Given the description of an element on the screen output the (x, y) to click on. 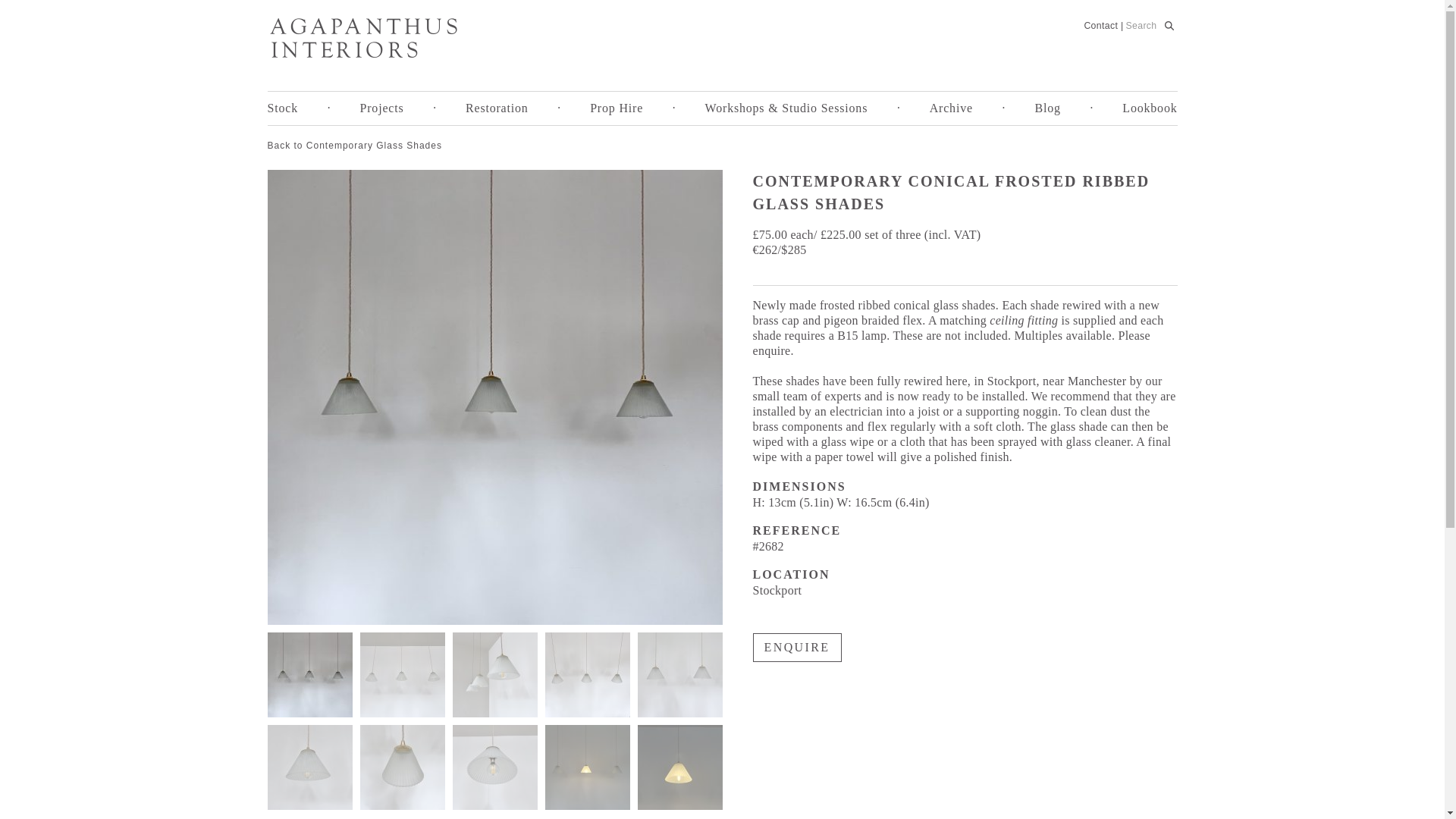
Lookbook (1149, 107)
Blog (1046, 107)
Contemporary Glass Shades (353, 145)
Stock (281, 107)
ceiling fitting (1025, 319)
ENQUIRE (796, 647)
Projects (381, 107)
Prop Hire (616, 107)
Stockport based antique restoration shop (362, 37)
Restoration (496, 107)
Contact (1100, 25)
Archive (951, 107)
